Given the description of an element on the screen output the (x, y) to click on. 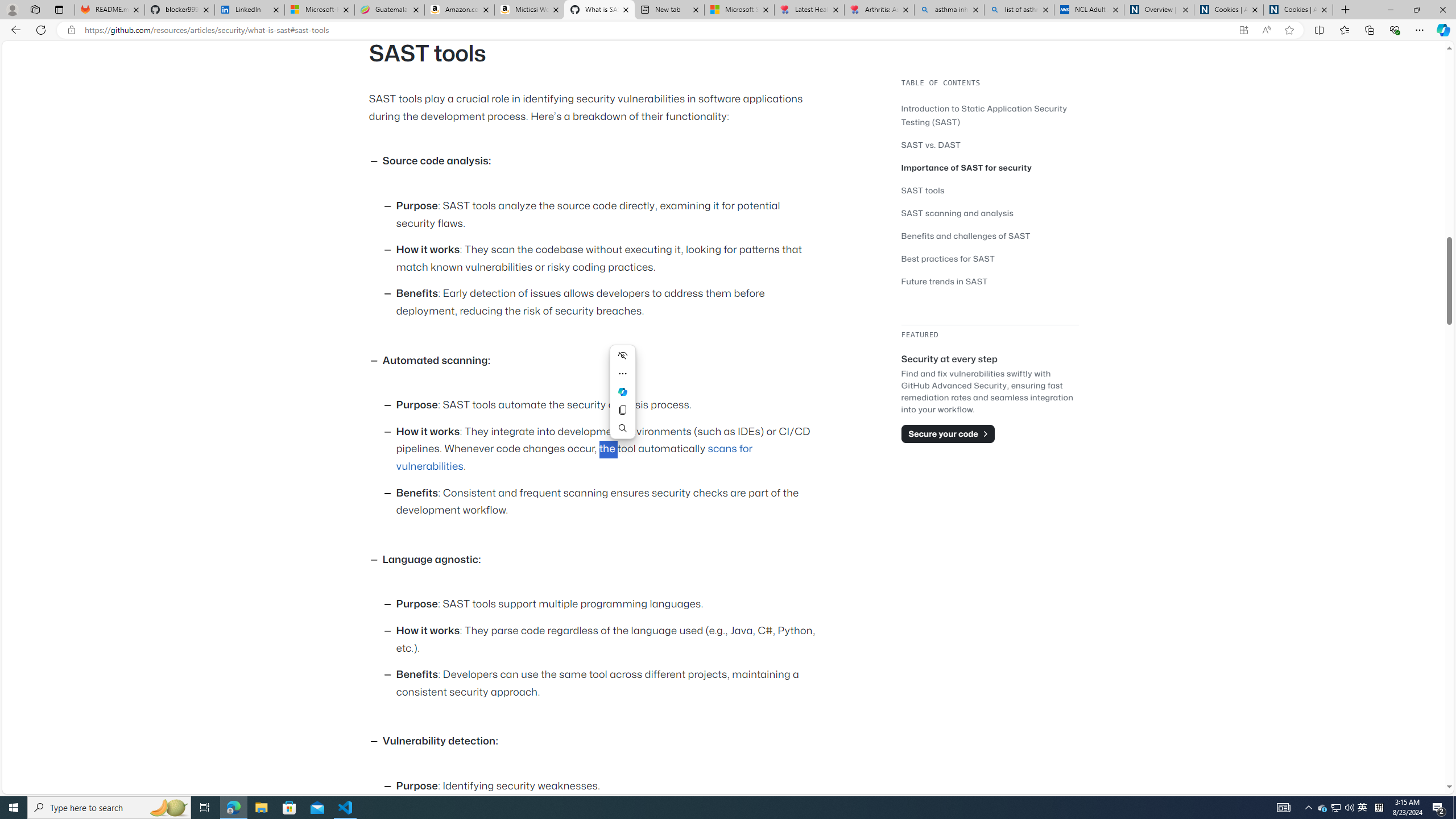
NCL Adult Asthma Inhaler Choice Guideline (1088, 9)
More actions (622, 373)
Purpose: SAST tools support multiple programming languages. (608, 604)
